Given the description of an element on the screen output the (x, y) to click on. 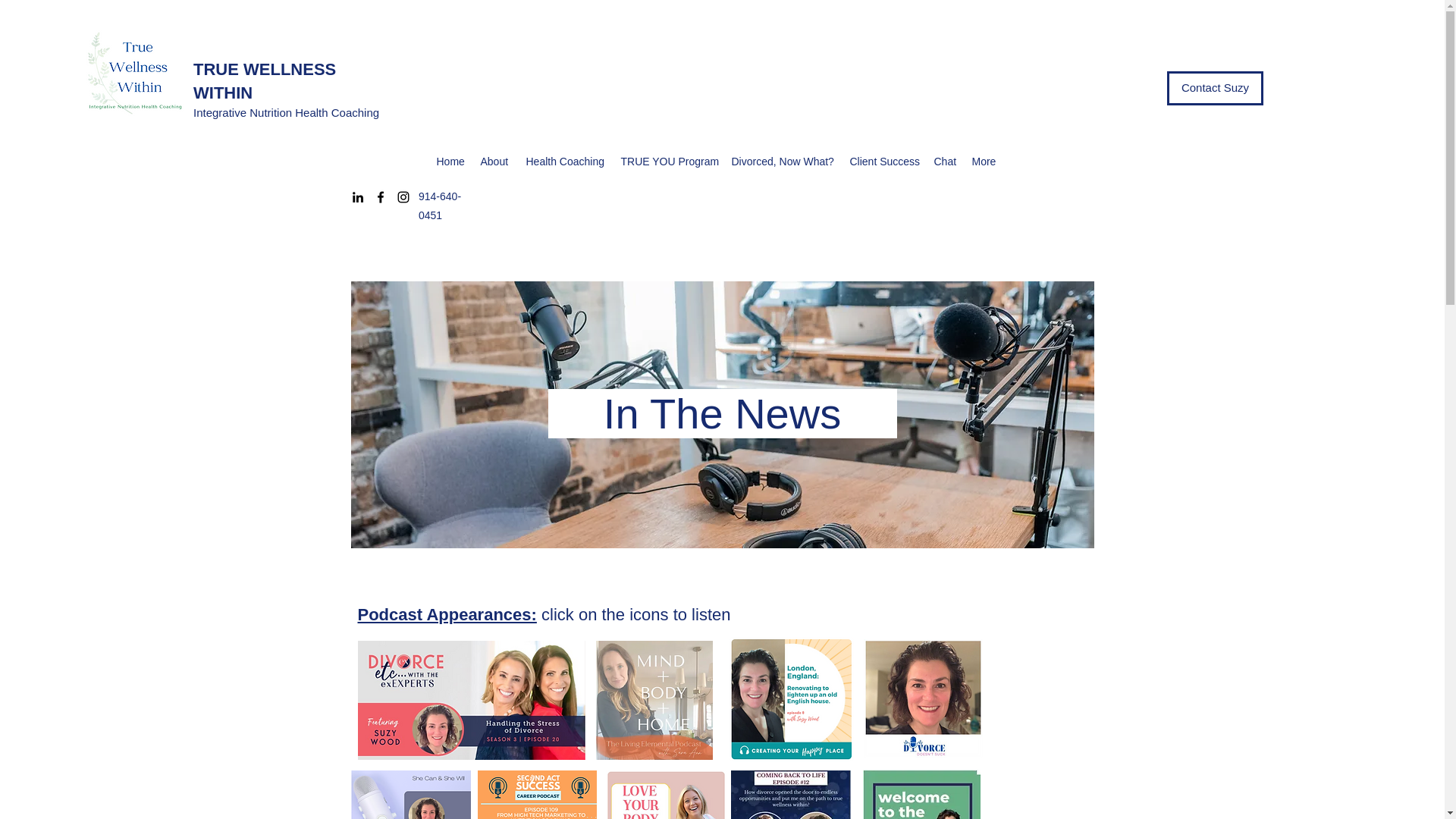
Home (451, 160)
Health Coaching (565, 160)
Logo and tagline PNG.png (135, 73)
Client Success (883, 160)
TRUE YOU Program (667, 160)
Divorced, Now What? (782, 160)
About (495, 160)
Chat (944, 160)
Contact Suzy (1215, 88)
